Given the description of an element on the screen output the (x, y) to click on. 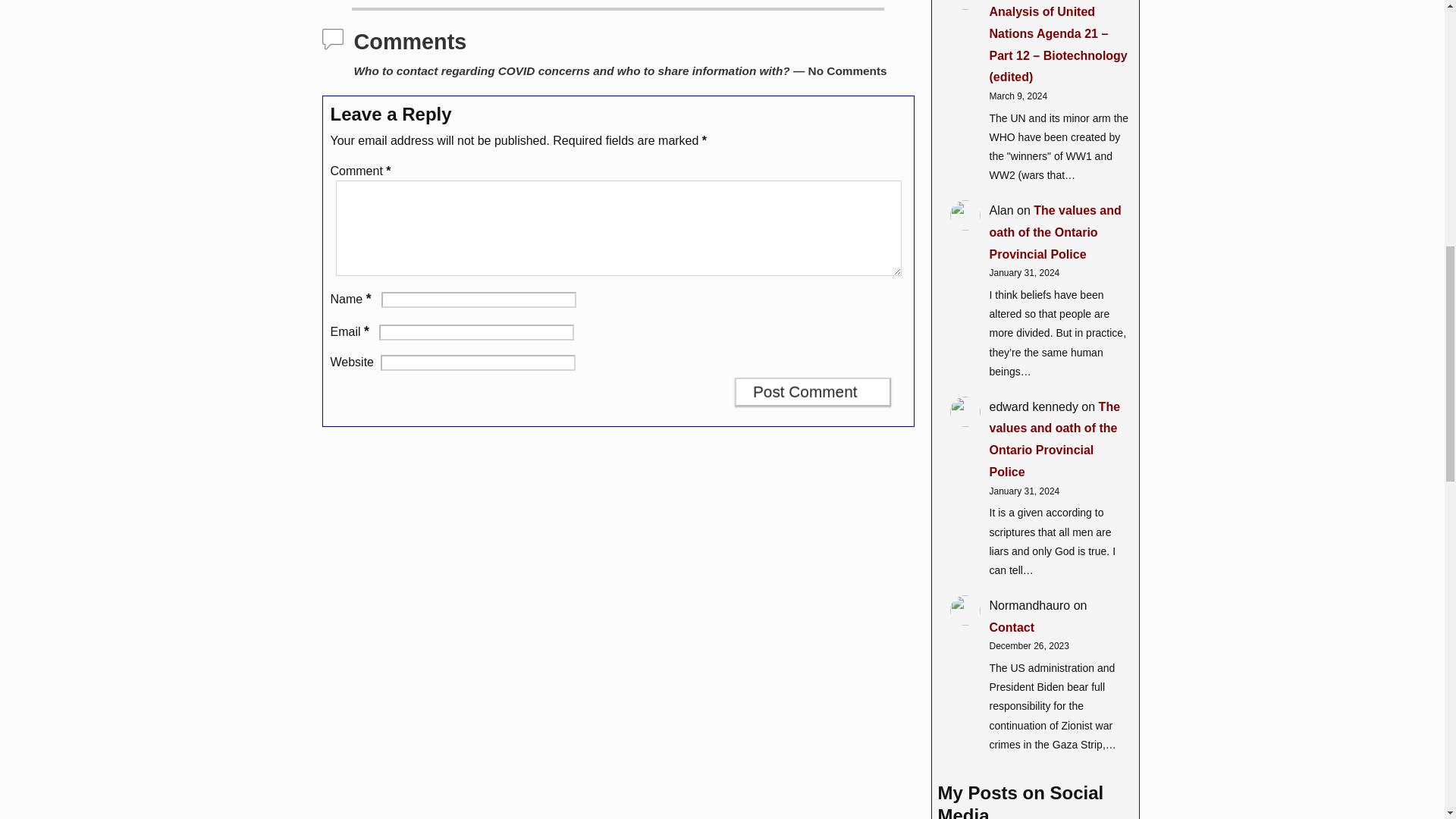
Post Comment (813, 391)
The values and oath of the Ontario Provincial Police (1053, 439)
Post Comment (813, 391)
Contact (1010, 626)
The values and oath of the Ontario Provincial Police (1054, 232)
